Given the description of an element on the screen output the (x, y) to click on. 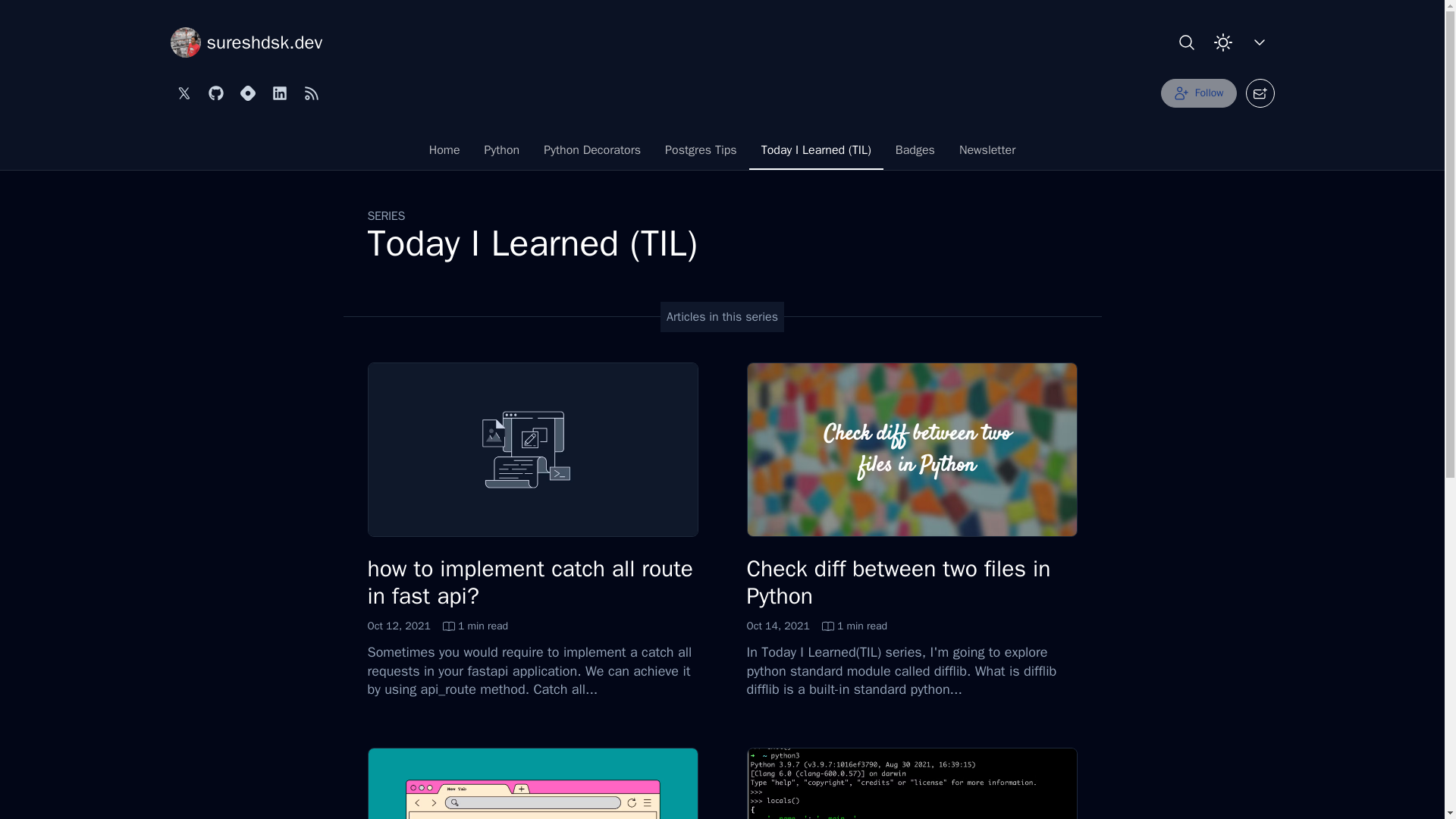
how to implement catch all route in fast api? (529, 582)
Newsletter (987, 153)
Postgres Tips (700, 153)
sureshdsk.dev (245, 42)
Home (437, 626)
Python (443, 153)
Follow (501, 153)
Check diff between two files in Python (1198, 92)
Python Decorators (897, 582)
Badges (591, 153)
